Given the description of an element on the screen output the (x, y) to click on. 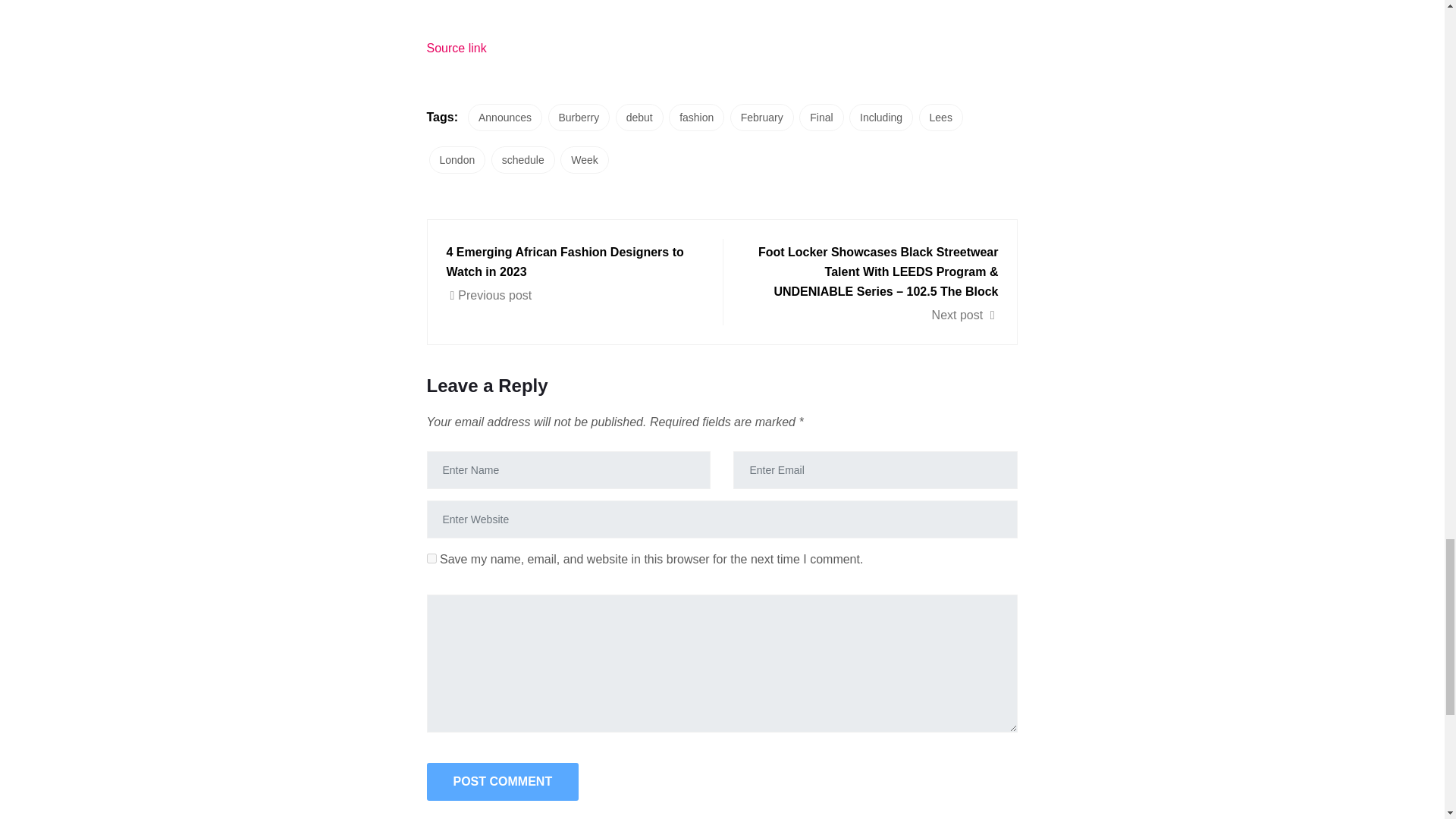
Post Comment (502, 781)
yes (430, 558)
